Given the description of an element on the screen output the (x, y) to click on. 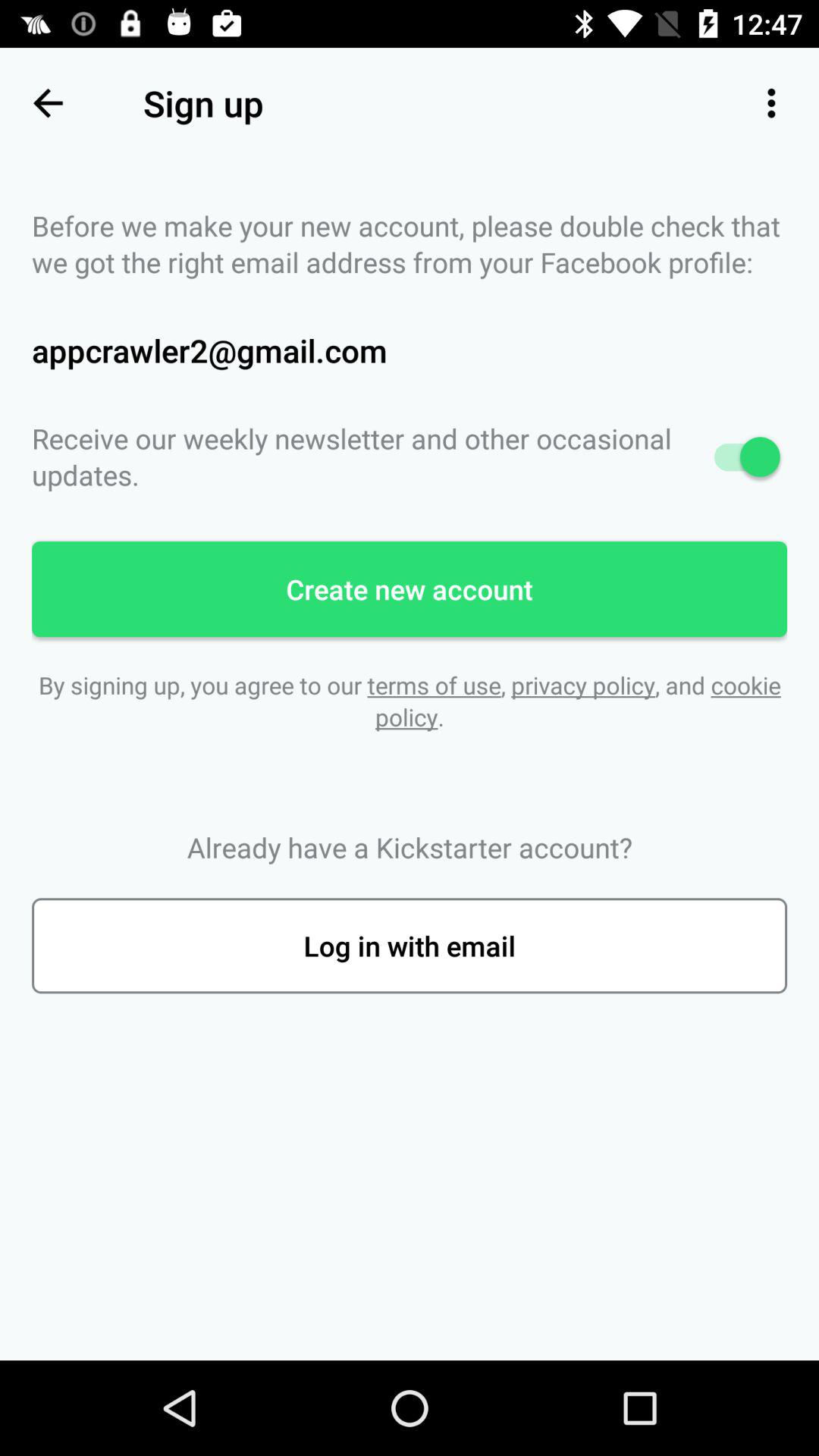
flip until log in with (409, 945)
